Given the description of an element on the screen output the (x, y) to click on. 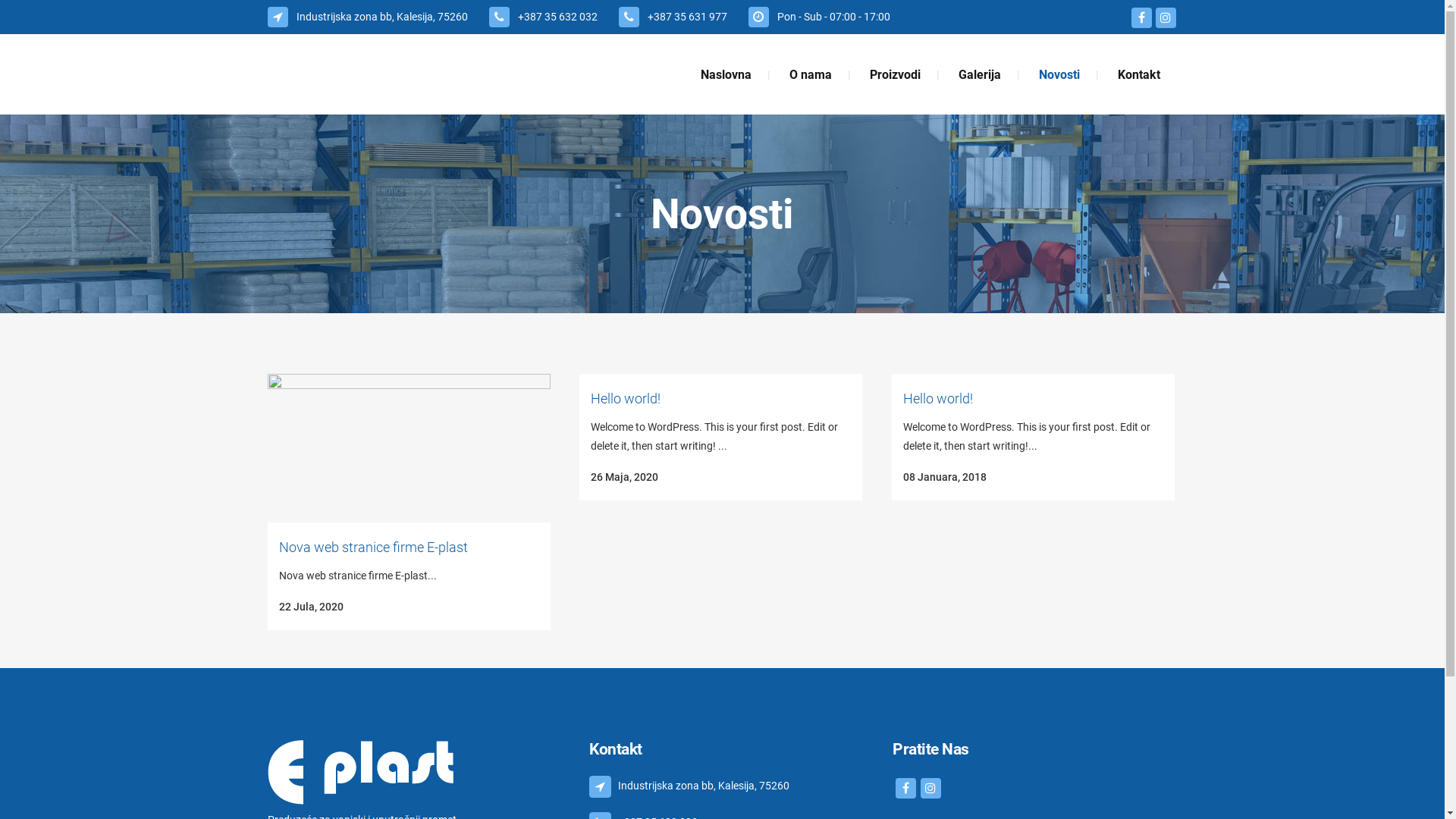
Nova web stranice firme E-plast Element type: hover (407, 447)
Nova web stranice firme E-plast Element type: text (373, 547)
Hello world! Element type: text (937, 398)
Kontakt Element type: text (1137, 74)
Proizvodi Element type: text (895, 74)
Hello world! Element type: text (624, 398)
Galerija Element type: text (978, 74)
Novosti Element type: text (1058, 74)
O nama Element type: text (810, 74)
Naslovna Element type: text (725, 74)
